Given the description of an element on the screen output the (x, y) to click on. 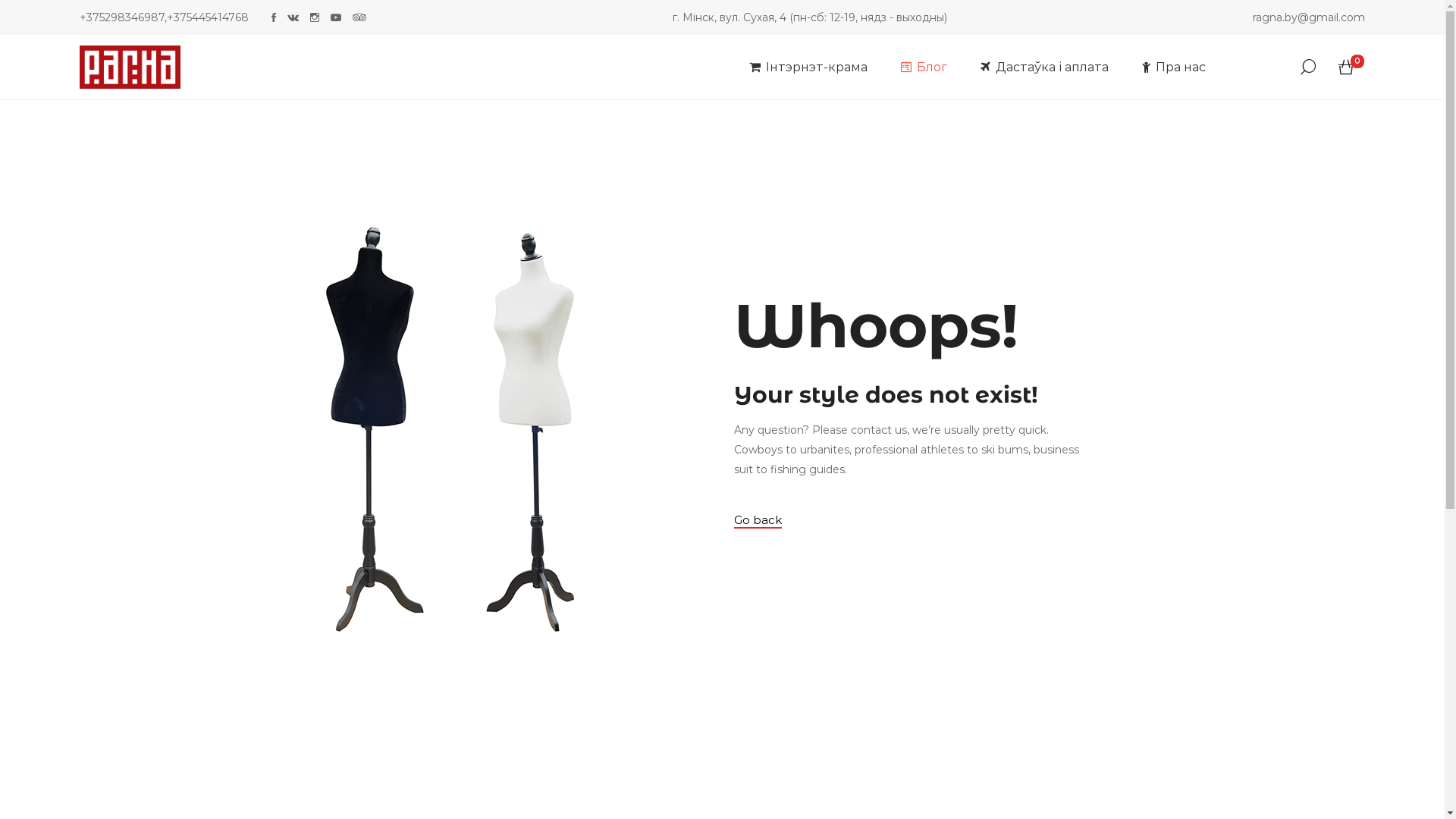
Go back Element type: text (757, 520)
0 Element type: text (1345, 67)
+375445414768 Element type: text (207, 17)
+375298346987 Element type: text (121, 17)
ragna.by@gmail.com Element type: text (1308, 17)
